Given the description of an element on the screen output the (x, y) to click on. 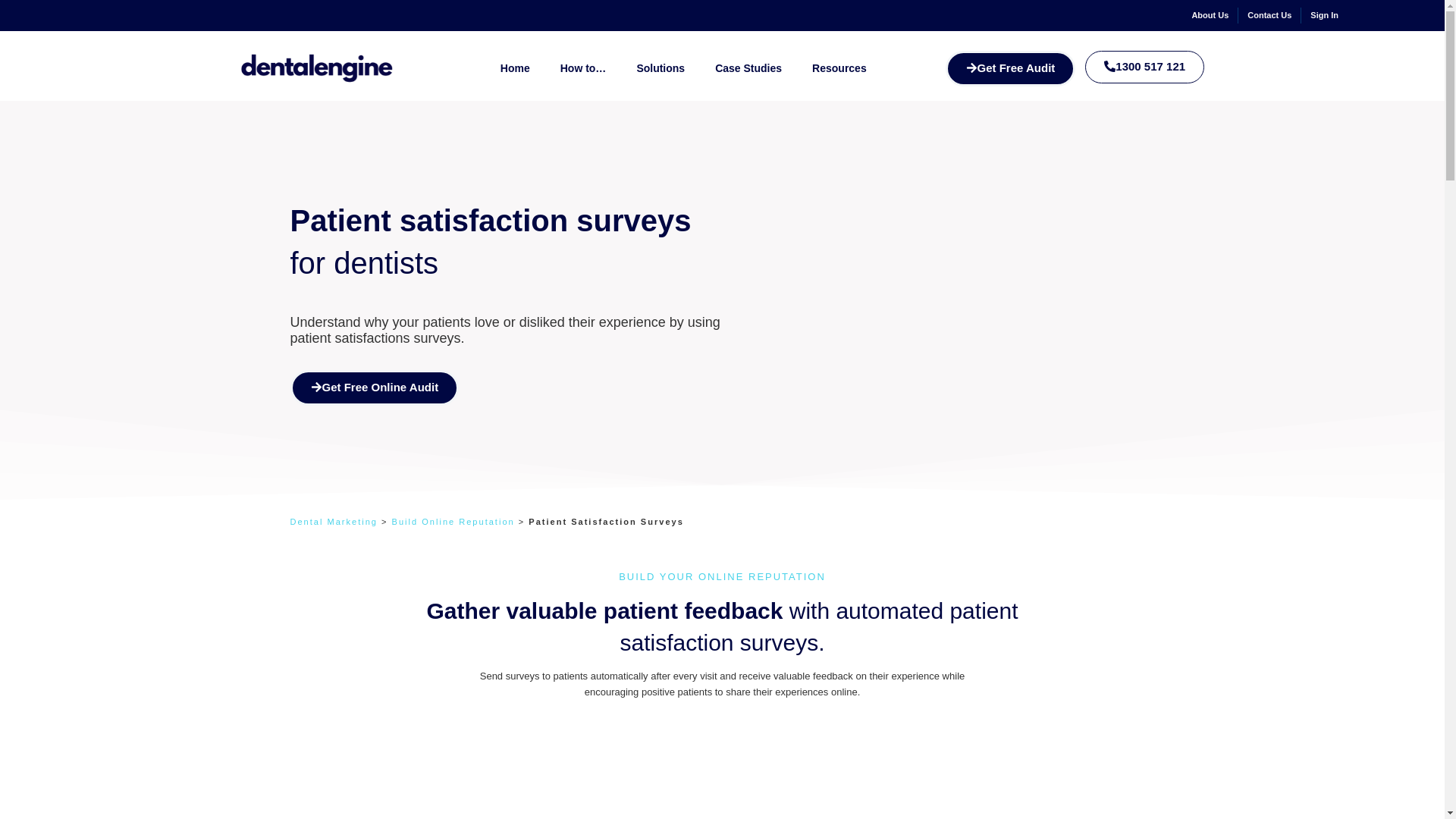
Contact Us (1269, 15)
1300 517 121 (1144, 66)
Dental Marketing (333, 521)
Get Free Online Audit (373, 387)
Get Free Audit (1009, 68)
Case Studies (747, 65)
Resources (839, 65)
Solutions (660, 58)
Sign In (1324, 15)
Build Online Reputation (453, 521)
